Given the description of an element on the screen output the (x, y) to click on. 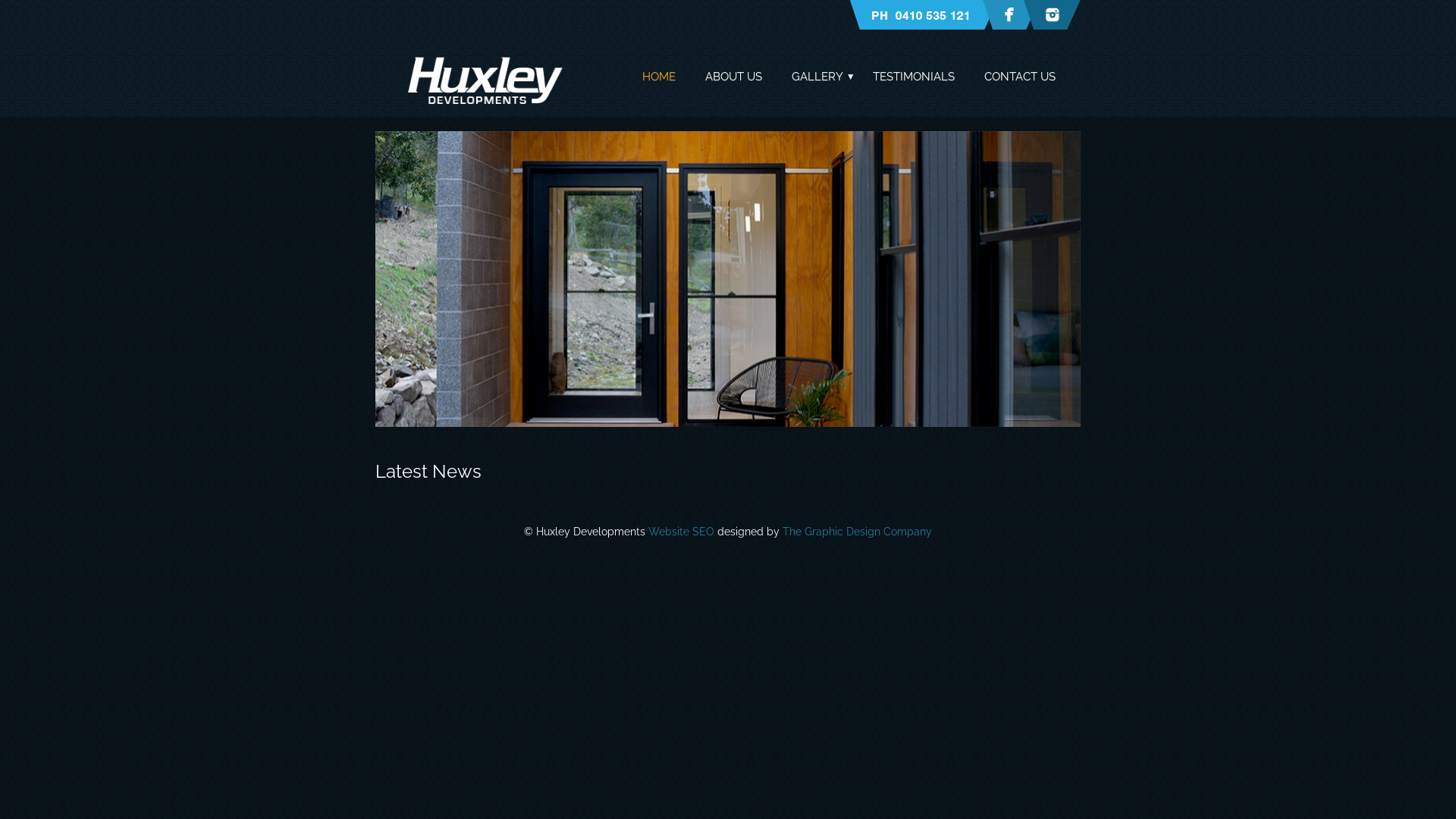
GALLERY Element type: text (817, 76)
HOME Element type: text (658, 76)
TESTIMONIALS Element type: text (913, 76)
The Graphic Design Company Element type: text (856, 531)
CONTACT US Element type: text (1019, 76)
Website SEO Element type: text (681, 531)
ABOUT US Element type: text (733, 76)
